Given the description of an element on the screen output the (x, y) to click on. 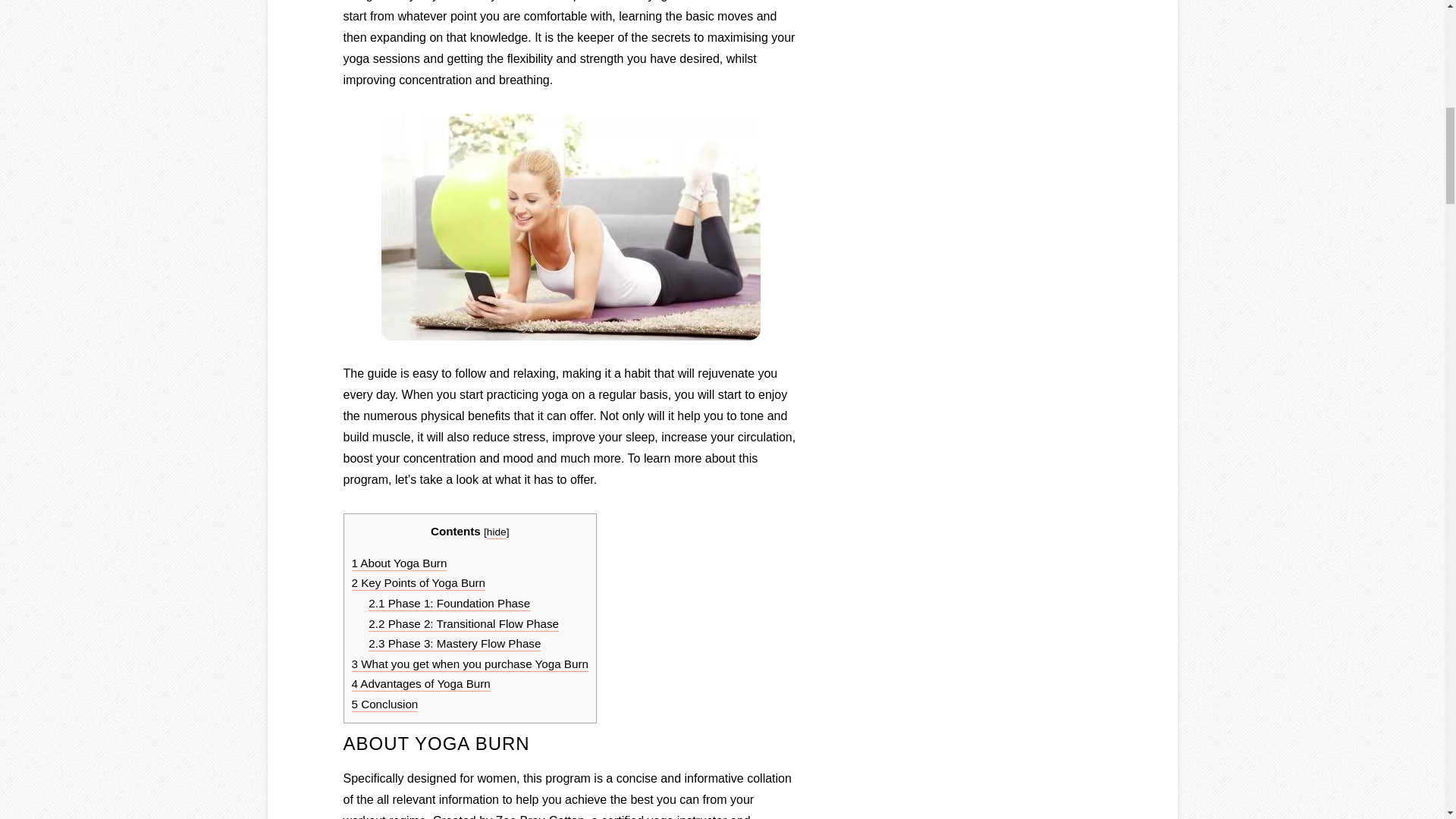
2.1 Phase 1: Foundation Phase (448, 603)
hide (496, 532)
2 Key Points of Yoga Burn (418, 583)
1 About Yoga Burn (399, 563)
5 Conclusion (385, 704)
2.2 Phase 2: Transitional Flow Phase (463, 624)
2.3 Phase 3: Mastery Flow Phase (454, 644)
4 Advantages of Yoga Burn (421, 684)
3 What you get when you purchase Yoga Burn (470, 664)
